Given the description of an element on the screen output the (x, y) to click on. 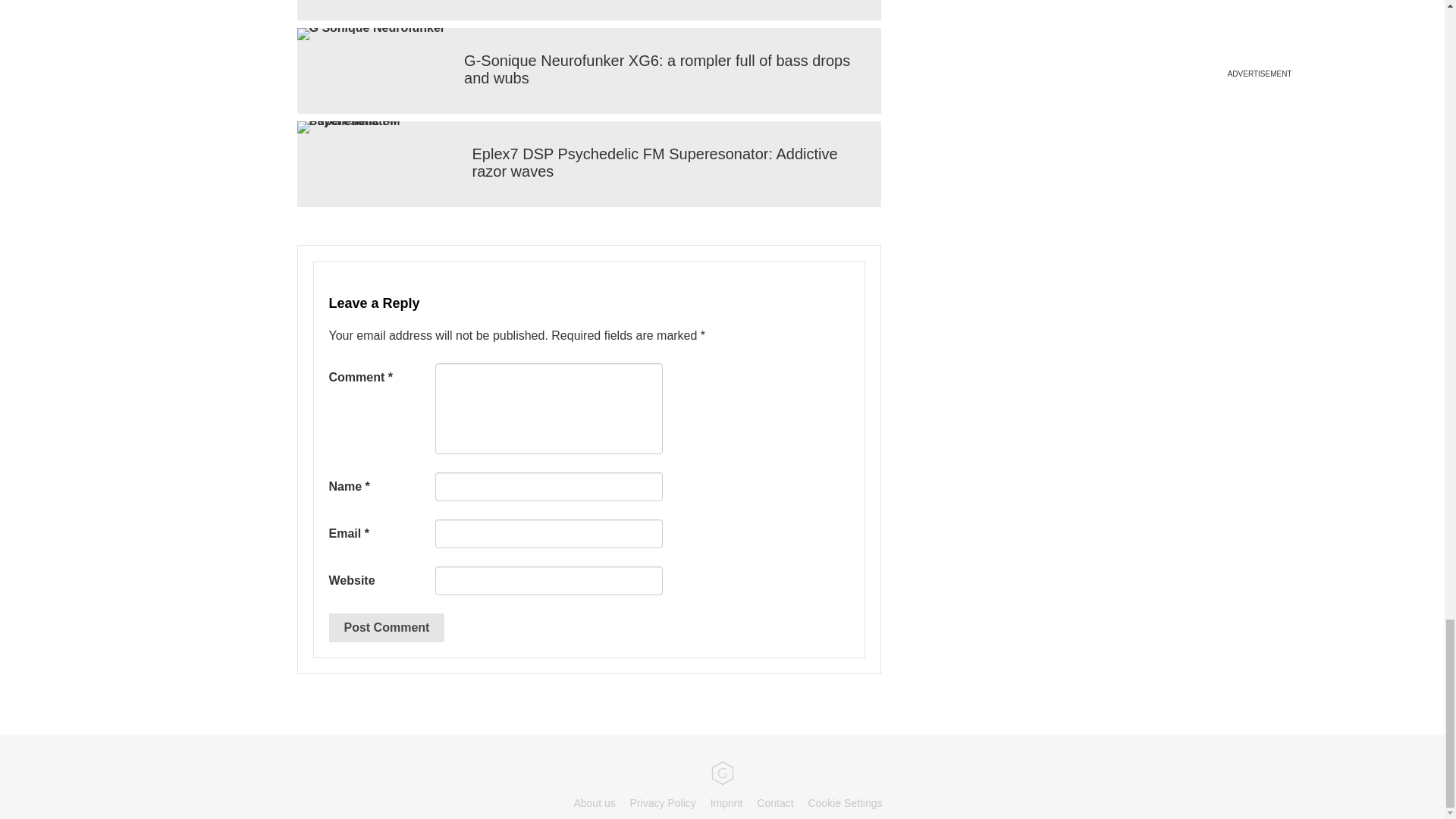
Post Comment (387, 627)
